Given the description of an element on the screen output the (x, y) to click on. 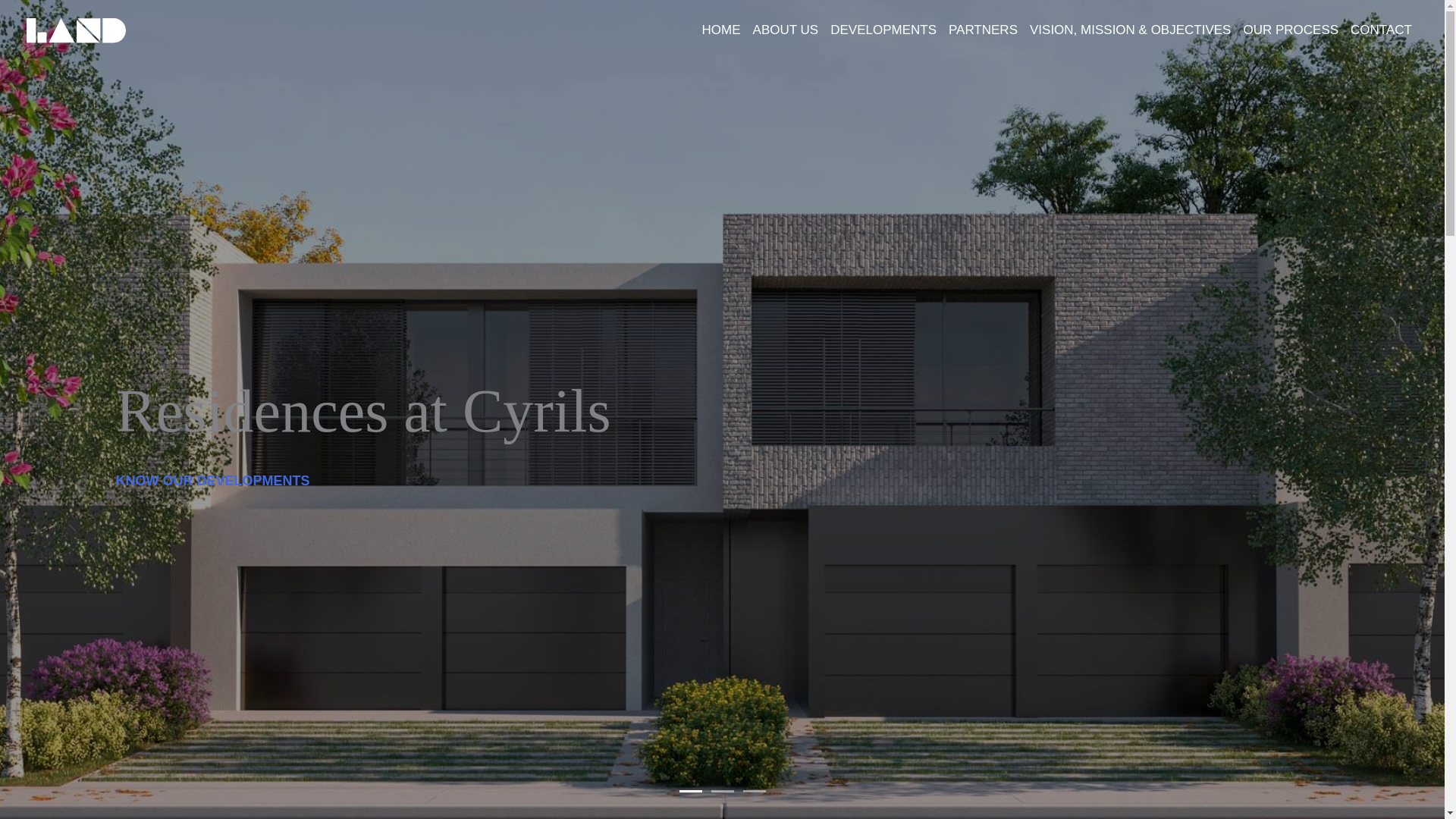
ABOUT US (785, 30)
CONTACT (1380, 30)
DEVELOPMENTS (883, 30)
PARTNERS (982, 30)
KNOW OUR DEVELOPMENTS (211, 480)
OUR PROCESS (1289, 30)
